Given the description of an element on the screen output the (x, y) to click on. 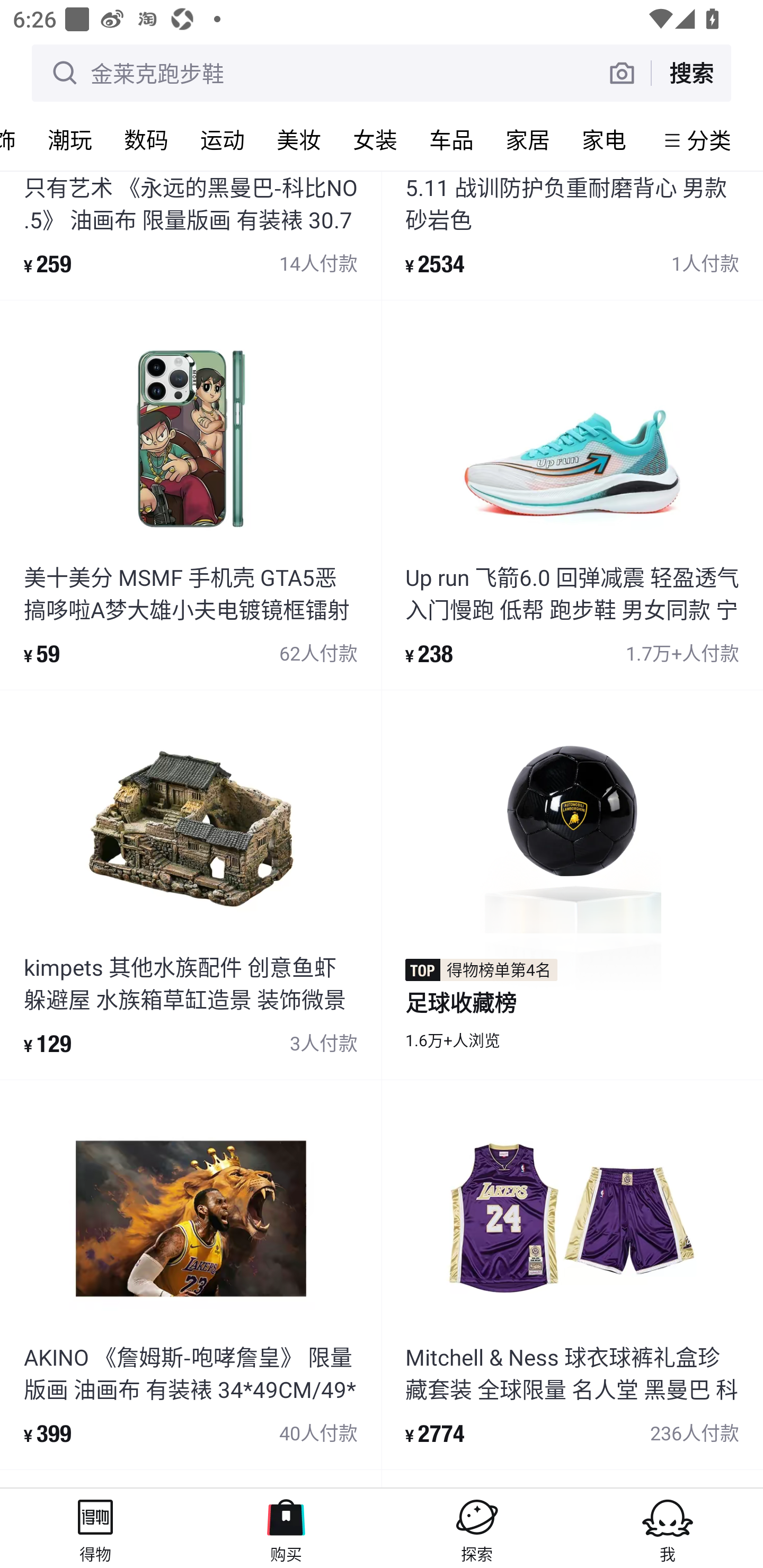
搜索 (690, 72)
潮玩 (70, 139)
数码 (146, 139)
运动 (222, 139)
美妆 (298, 139)
女装 (375, 139)
车品 (451, 139)
家居 (527, 139)
家电 (604, 139)
分类 (708, 139)
product_item 5.11 战训防护负重耐磨背心 男款 
砂岩色 ¥ 2534 1人付款 (572, 234)
得物榜单第4名 足球收藏榜 1.6万+人浏览 (572, 884)
得物 (95, 1528)
购买 (285, 1528)
探索 (476, 1528)
我 (667, 1528)
